Given the description of an element on the screen output the (x, y) to click on. 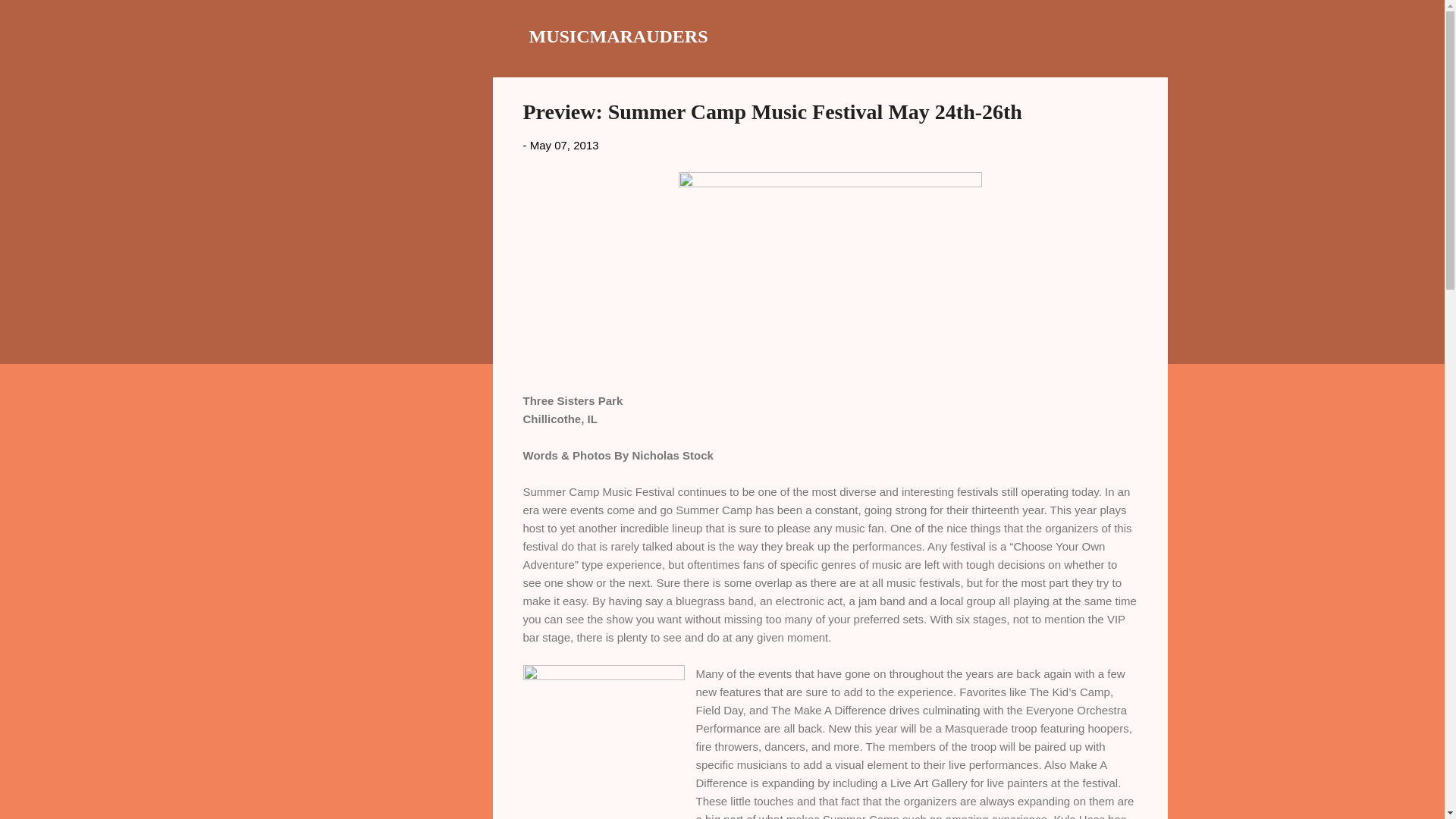
Search (29, 18)
permanent link (563, 144)
MUSICMARAUDERS (618, 35)
May 07, 2013 (563, 144)
